Given the description of an element on the screen output the (x, y) to click on. 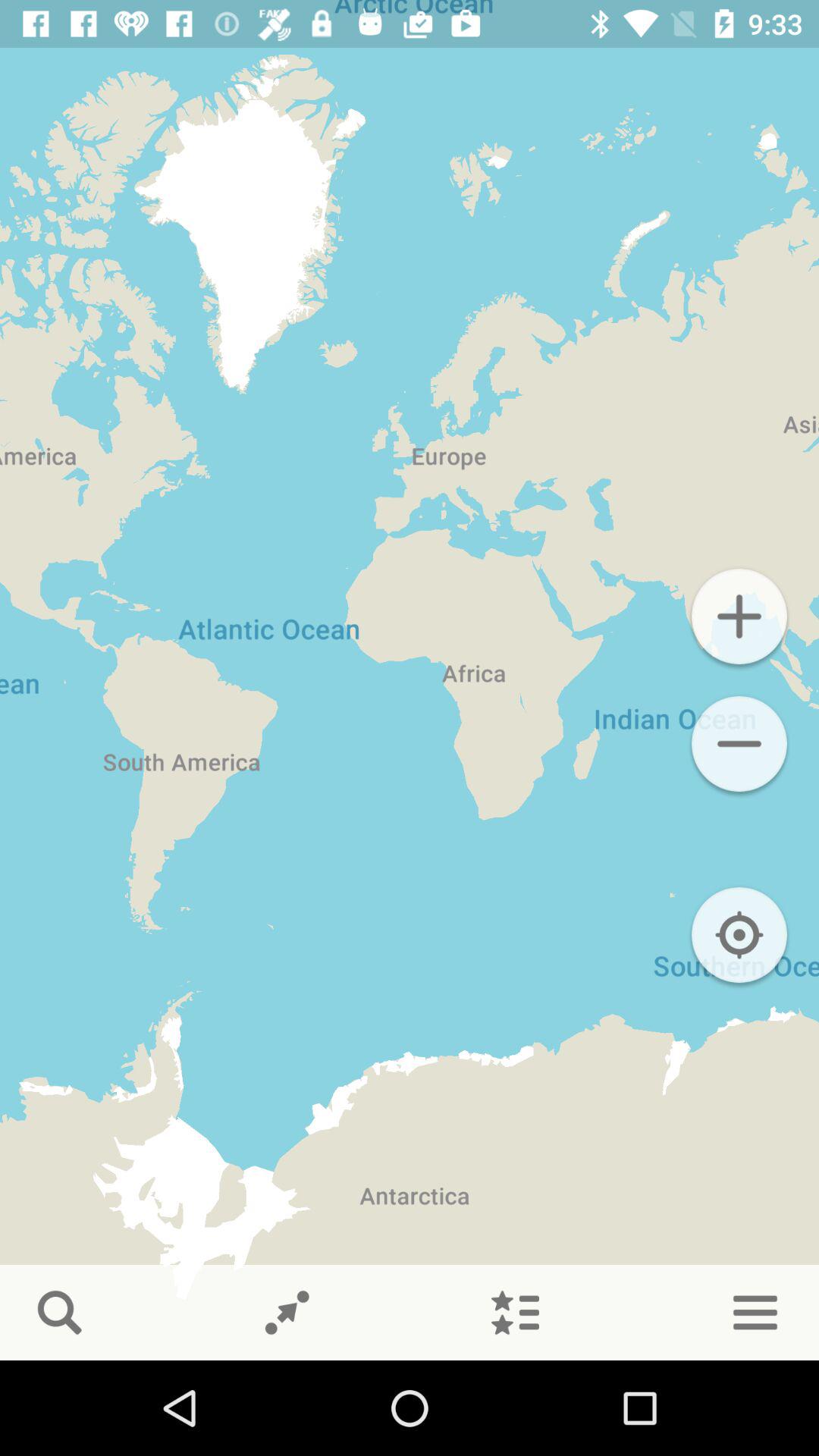
switch add option (739, 616)
